Given the description of an element on the screen output the (x, y) to click on. 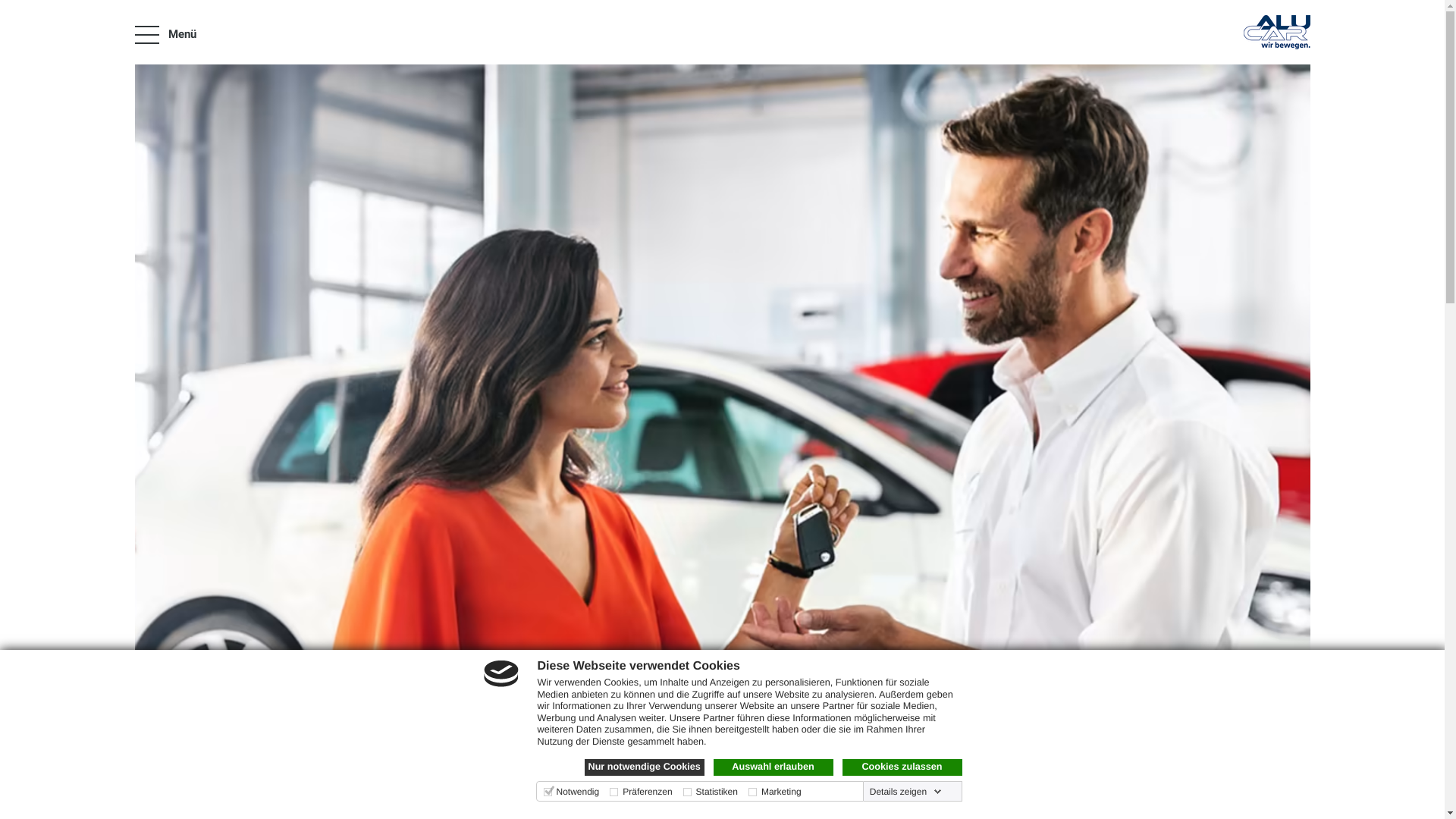
Cookies zulassen Element type: text (901, 767)
Nur notwendige Cookies Element type: text (643, 767)
Auswahl erlauben Element type: text (772, 767)
Details zeigen Element type: text (905, 791)
